Given the description of an element on the screen output the (x, y) to click on. 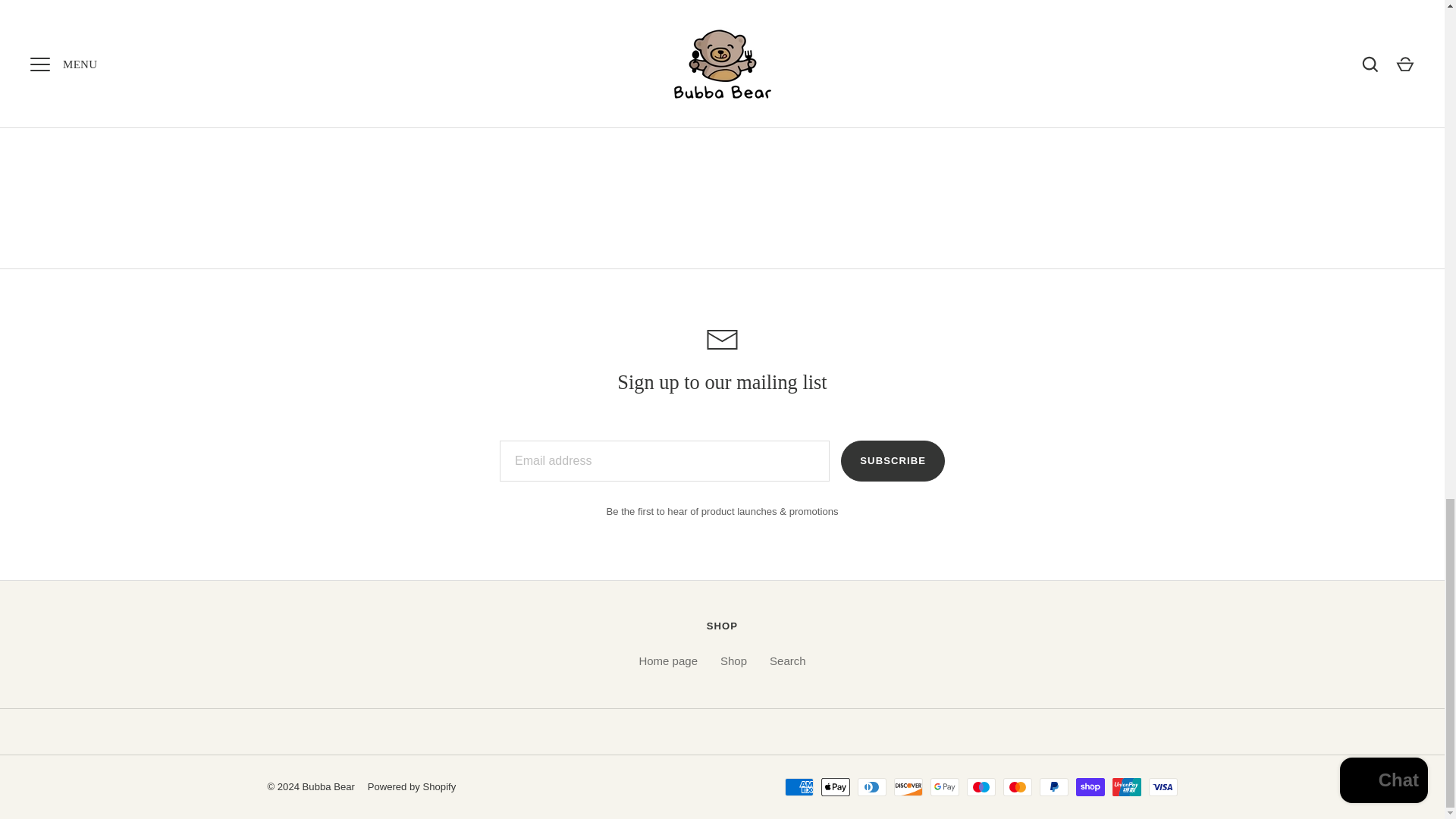
Search (788, 660)
Shop (733, 660)
Home page (668, 660)
Email (722, 339)
Powered by Shopify (412, 786)
SUBSCRIBE (892, 460)
